Given the description of an element on the screen output the (x, y) to click on. 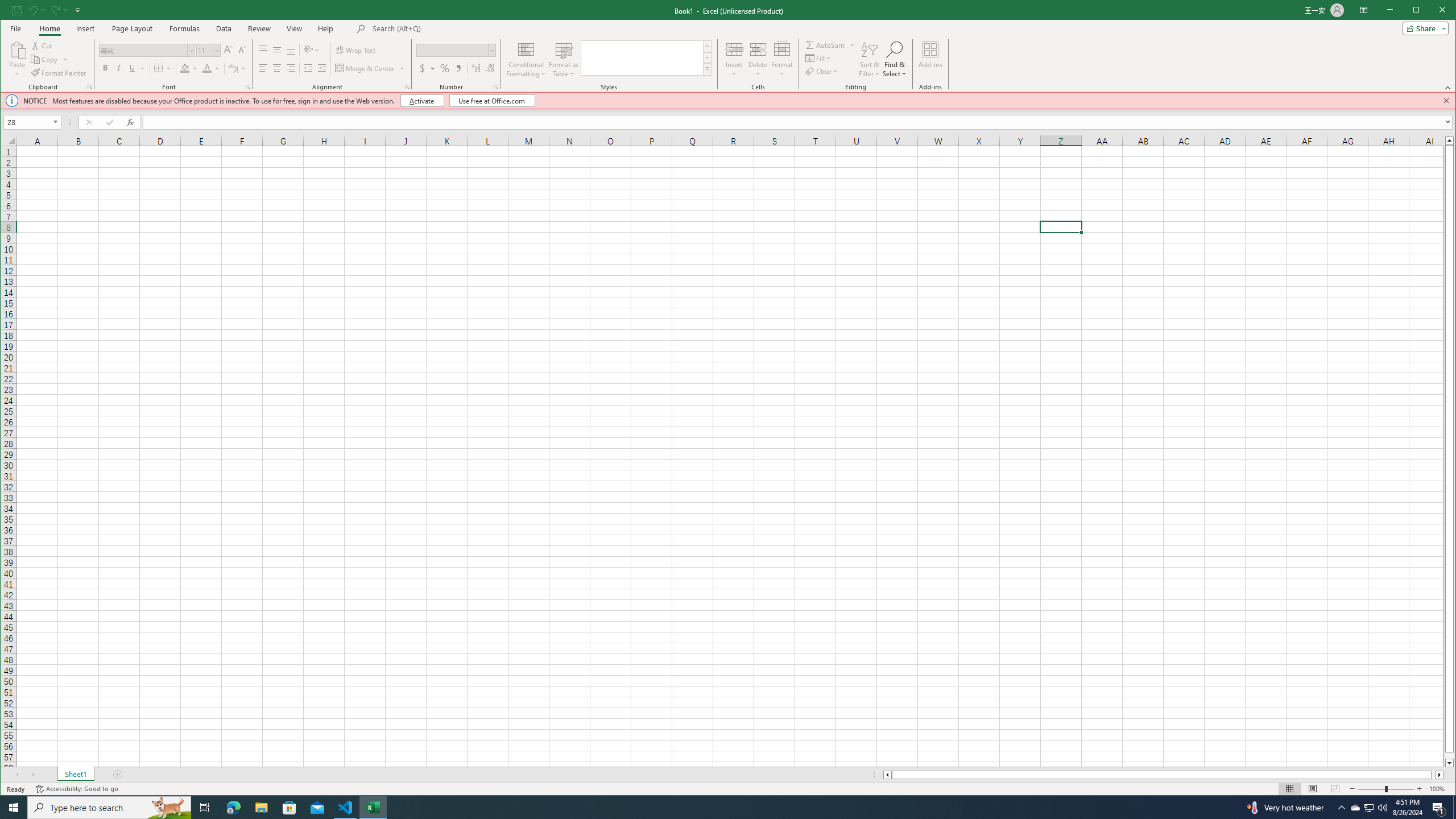
Action Center, 1 new notification (1439, 807)
Wrap Text (356, 49)
Show Phonetic Field (232, 68)
Number Format (456, 49)
Font (147, 49)
Find & Select (894, 59)
